Given the description of an element on the screen output the (x, y) to click on. 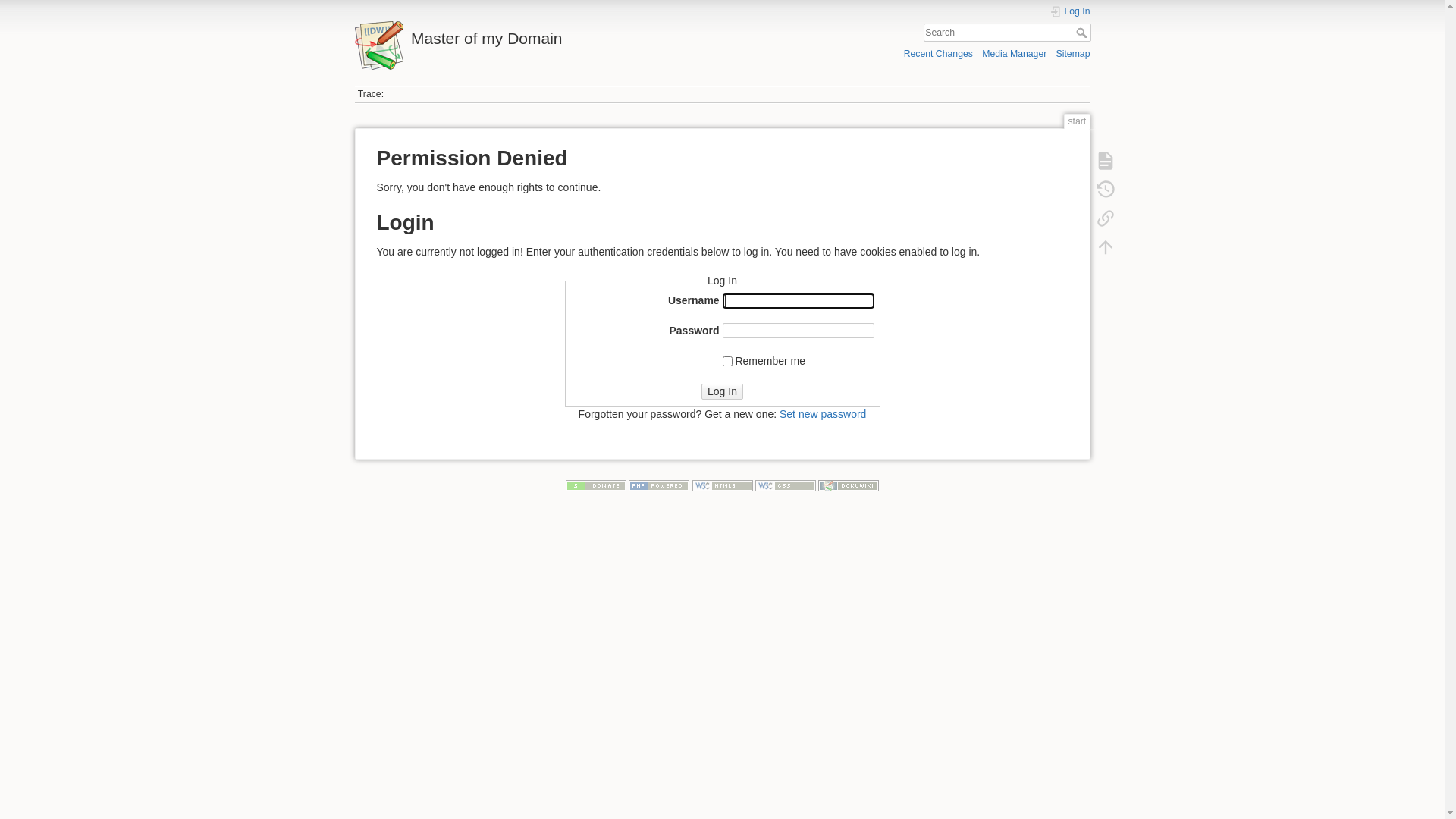
Powered by PHP Element type: hover (658, 485)
Set new password Element type: text (822, 413)
Show page [v] Element type: hover (1104, 160)
Driven by DokuWiki Element type: hover (848, 485)
Media Manager Element type: text (1014, 53)
Sitemap Element type: text (1073, 53)
Valid HTML5 Element type: hover (721, 485)
Valid CSS Element type: hover (785, 485)
Search Element type: text (1082, 32)
Recent Changes Element type: text (937, 53)
Master of my Domain Element type: text (534, 34)
Log In Element type: text (722, 391)
Backlinks Element type: hover (1104, 217)
[F] Element type: hover (1007, 32)
Donate Element type: hover (595, 485)
Back to top [t] Element type: hover (1104, 246)
Old revisions [o] Element type: hover (1104, 189)
Log In Element type: text (1069, 11)
